Given the description of an element on the screen output the (x, y) to click on. 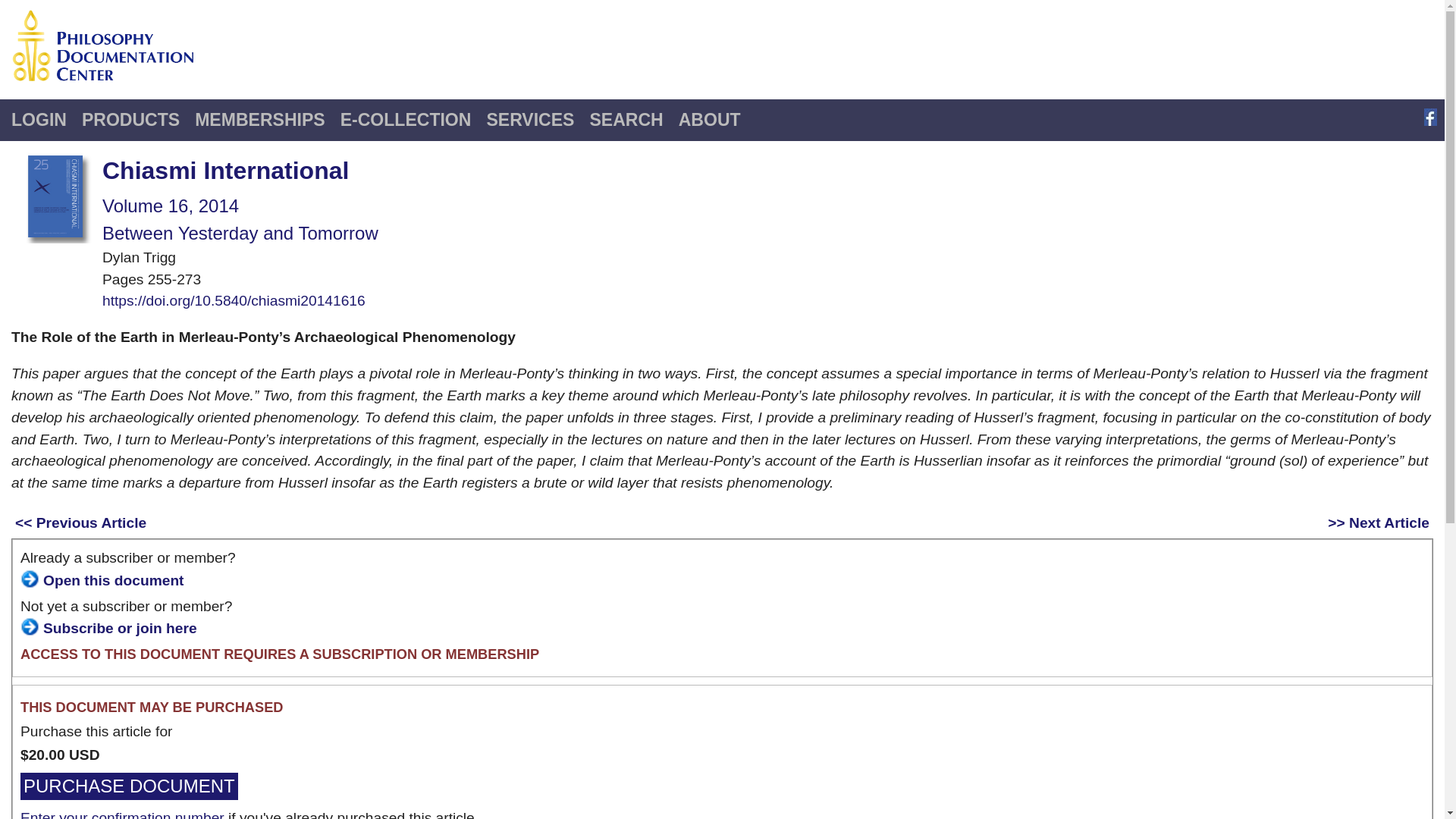
MEMBERSHIPS (259, 119)
E-COLLECTION (406, 119)
PRODUCTS (130, 119)
SERVICES (529, 119)
PURCHASE DOCUMENT (129, 785)
SEARCH (624, 119)
ABOUT (709, 119)
LOGIN (39, 119)
